Given the description of an element on the screen output the (x, y) to click on. 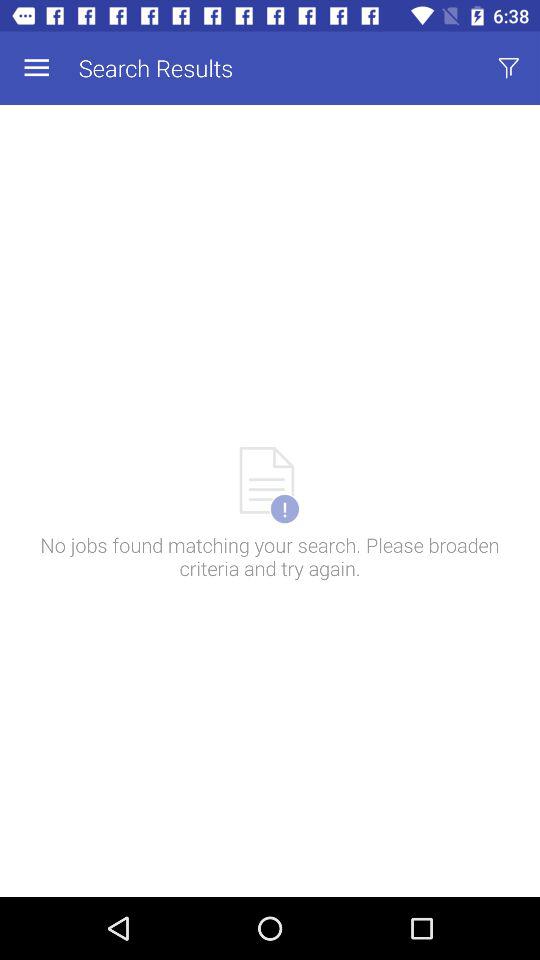
open the item next to search results icon (36, 68)
